Given the description of an element on the screen output the (x, y) to click on. 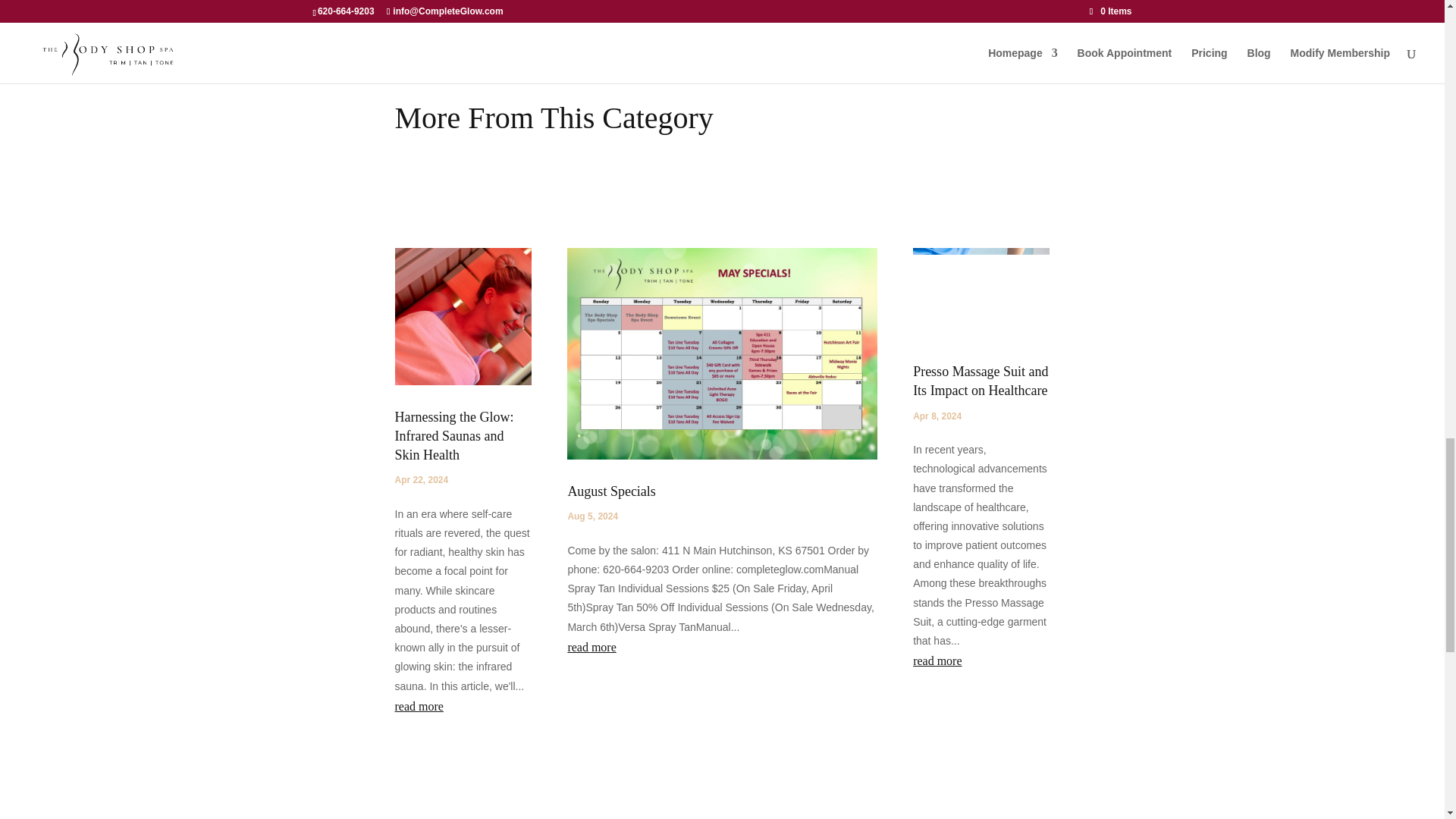
Presso Massage Suit and Its Impact on Healthcare (980, 380)
read more (462, 707)
Harnessing the Glow: Infrared Saunas and Skin Health (453, 435)
read more (721, 648)
August Specials (611, 491)
read more (980, 661)
